Given the description of an element on the screen output the (x, y) to click on. 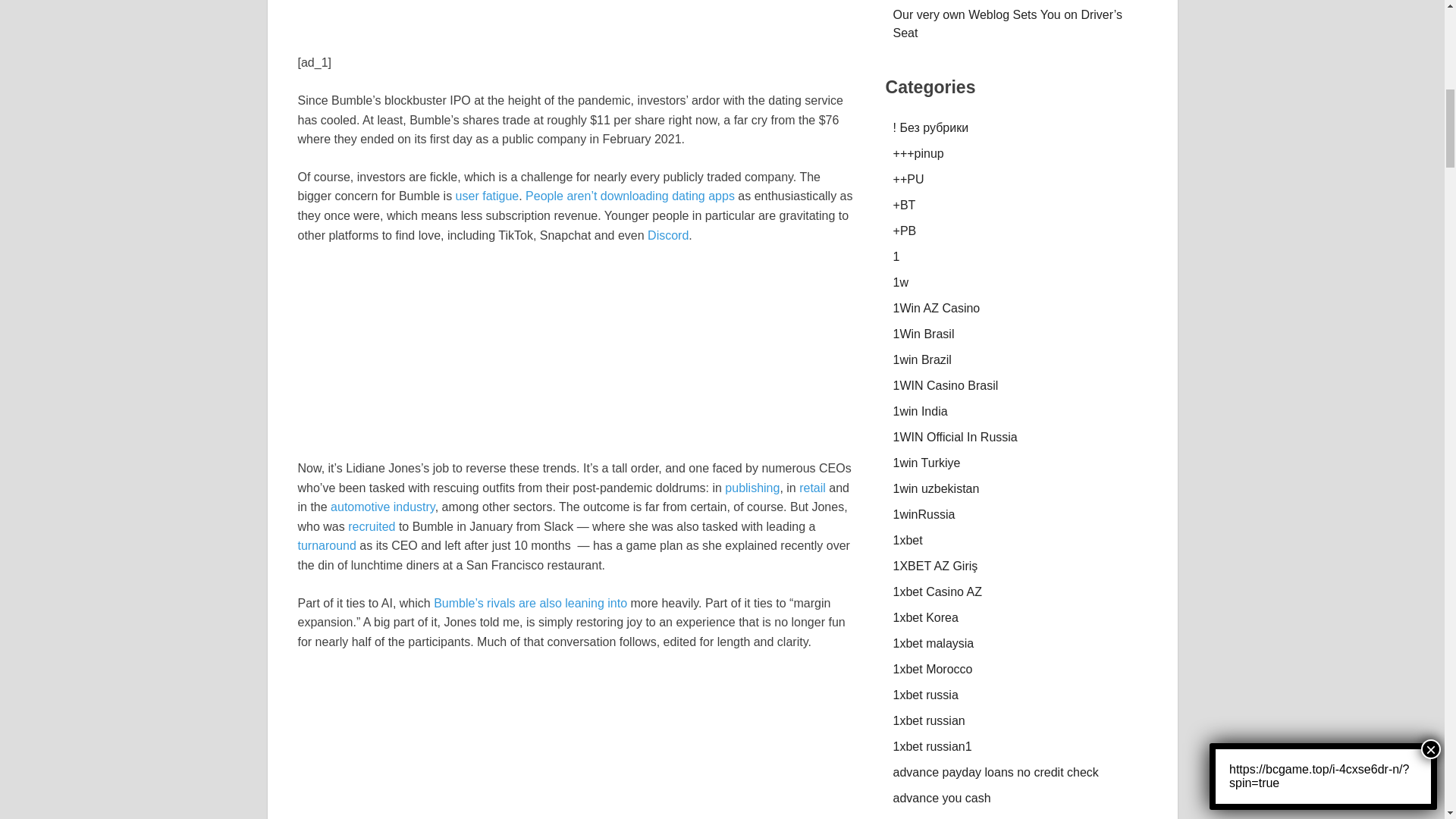
automotive industry (382, 506)
recruited (370, 526)
publishing (751, 487)
retail (812, 487)
turnaround (326, 545)
user fatigue (487, 195)
Discord (667, 235)
